Given the description of an element on the screen output the (x, y) to click on. 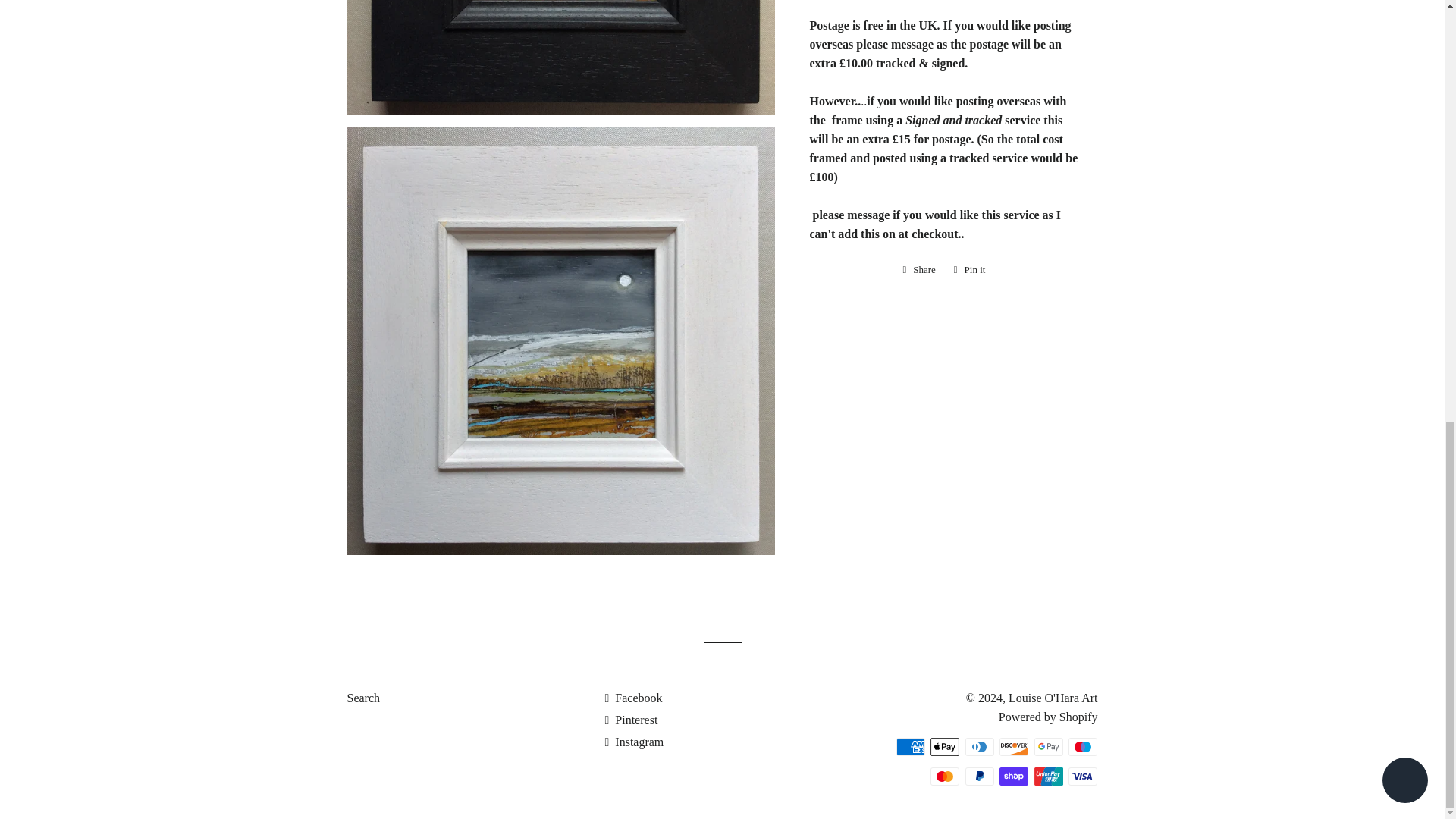
Shop Pay (1012, 776)
Apple Pay (944, 746)
Google Pay (1047, 746)
Search (363, 697)
Maestro (1082, 746)
PayPal (979, 776)
Louise O'Hara Art (1053, 697)
Mastercard (918, 269)
Facebook (944, 776)
